Given the description of an element on the screen output the (x, y) to click on. 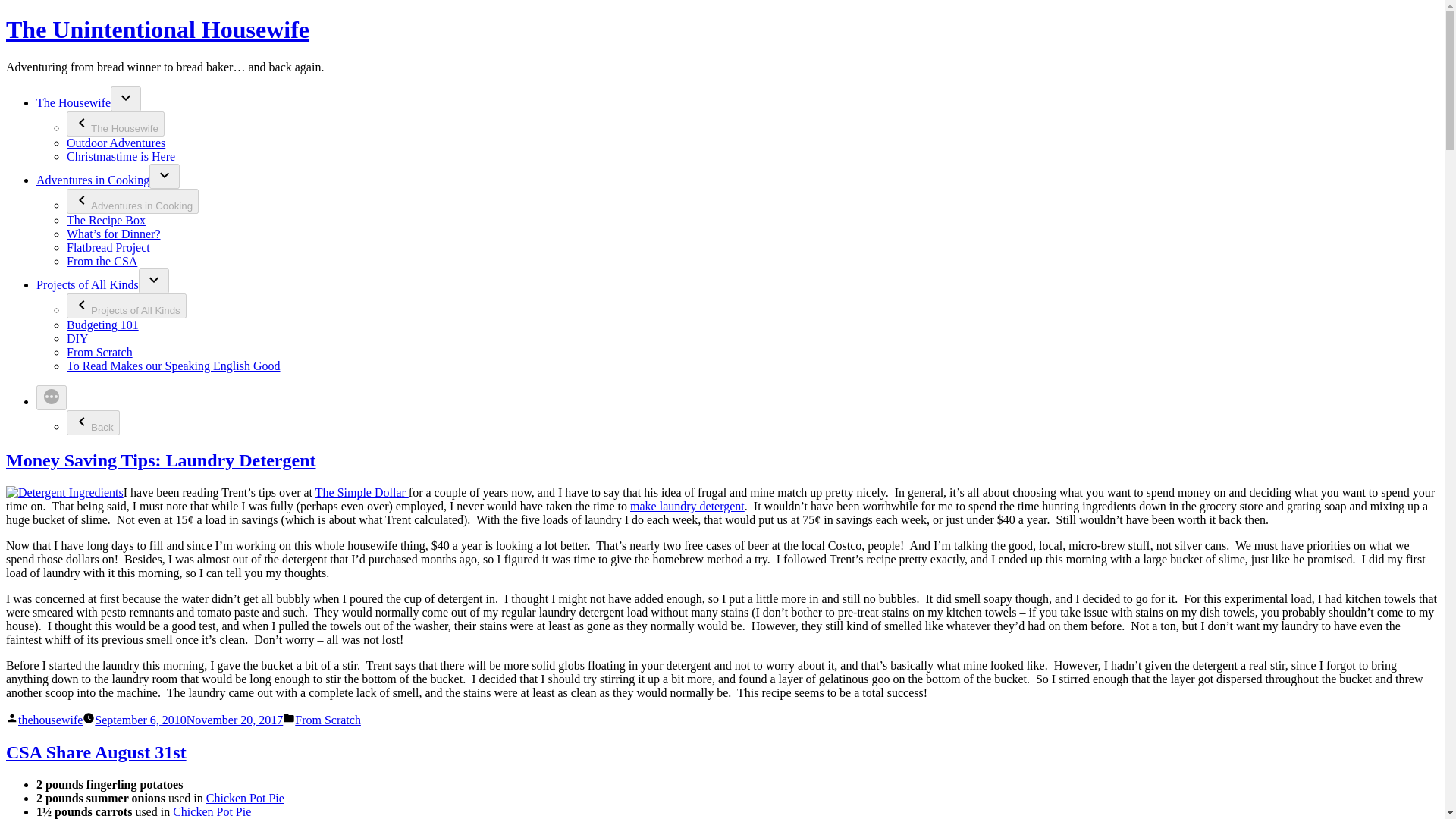
September 6, 2010November 20, 2017 (188, 719)
Chicken Pot Pie (211, 811)
Money Saving Tips: Laundry Detergent (160, 460)
Adventures in Cooking (132, 201)
Outdoor Adventures (115, 142)
thehousewife (49, 719)
CSA Share August 31st (95, 752)
To Read Makes our Speaking English Good (173, 365)
The Housewife (73, 102)
Flatbread Project (107, 246)
